Given the description of an element on the screen output the (x, y) to click on. 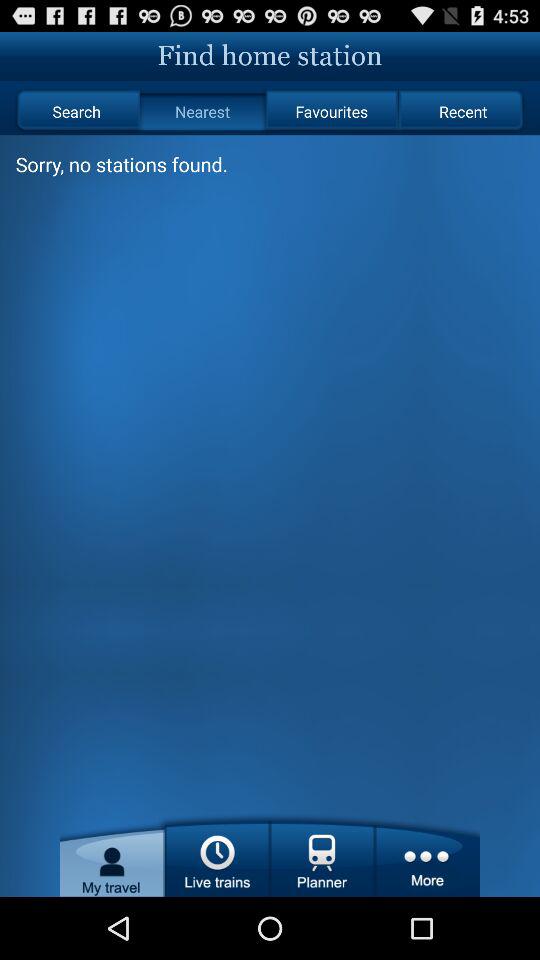
tap the icon next to the search icon (202, 111)
